Given the description of an element on the screen output the (x, y) to click on. 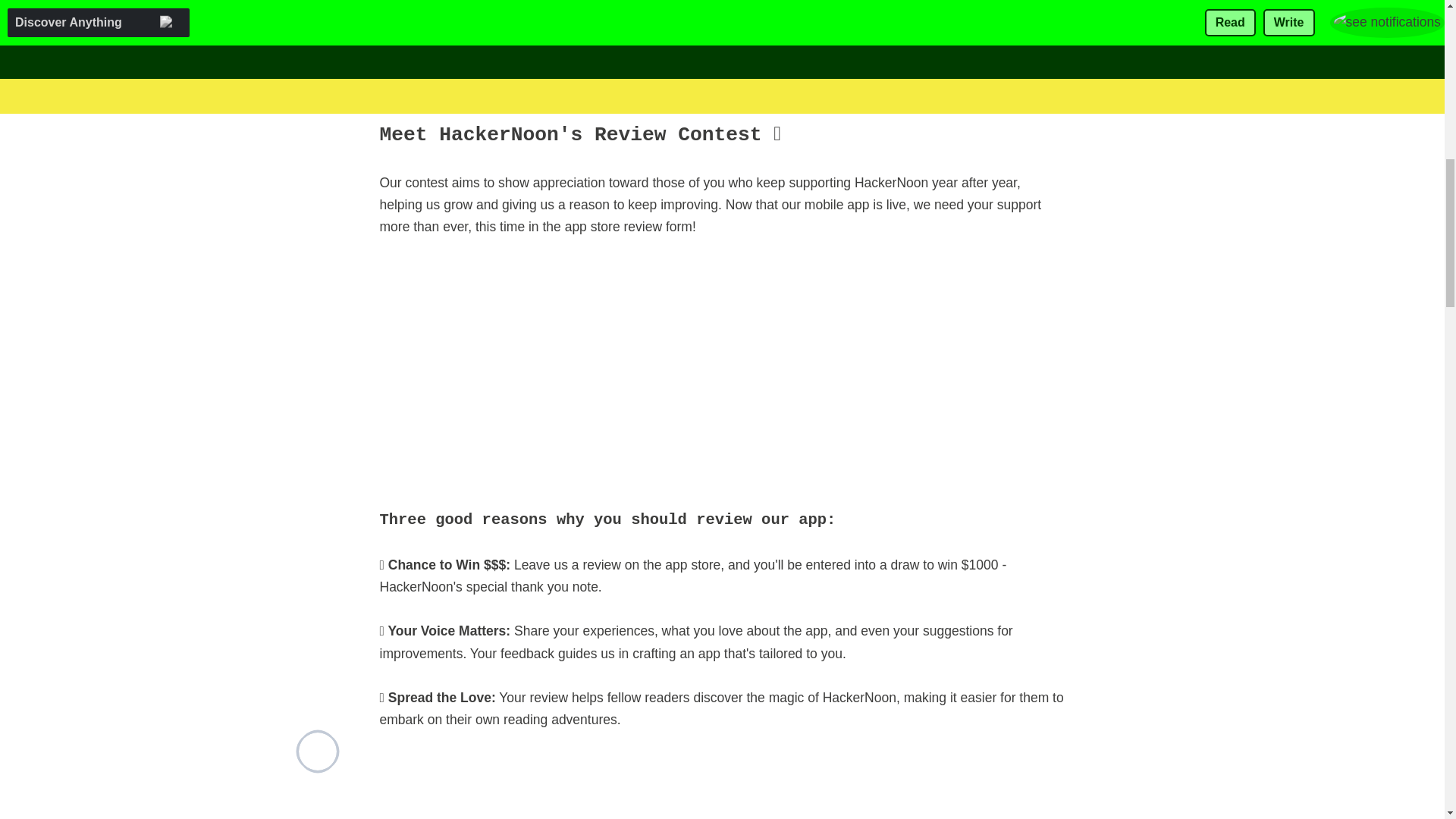
newly launched app (437, 48)
